Given the description of an element on the screen output the (x, y) to click on. 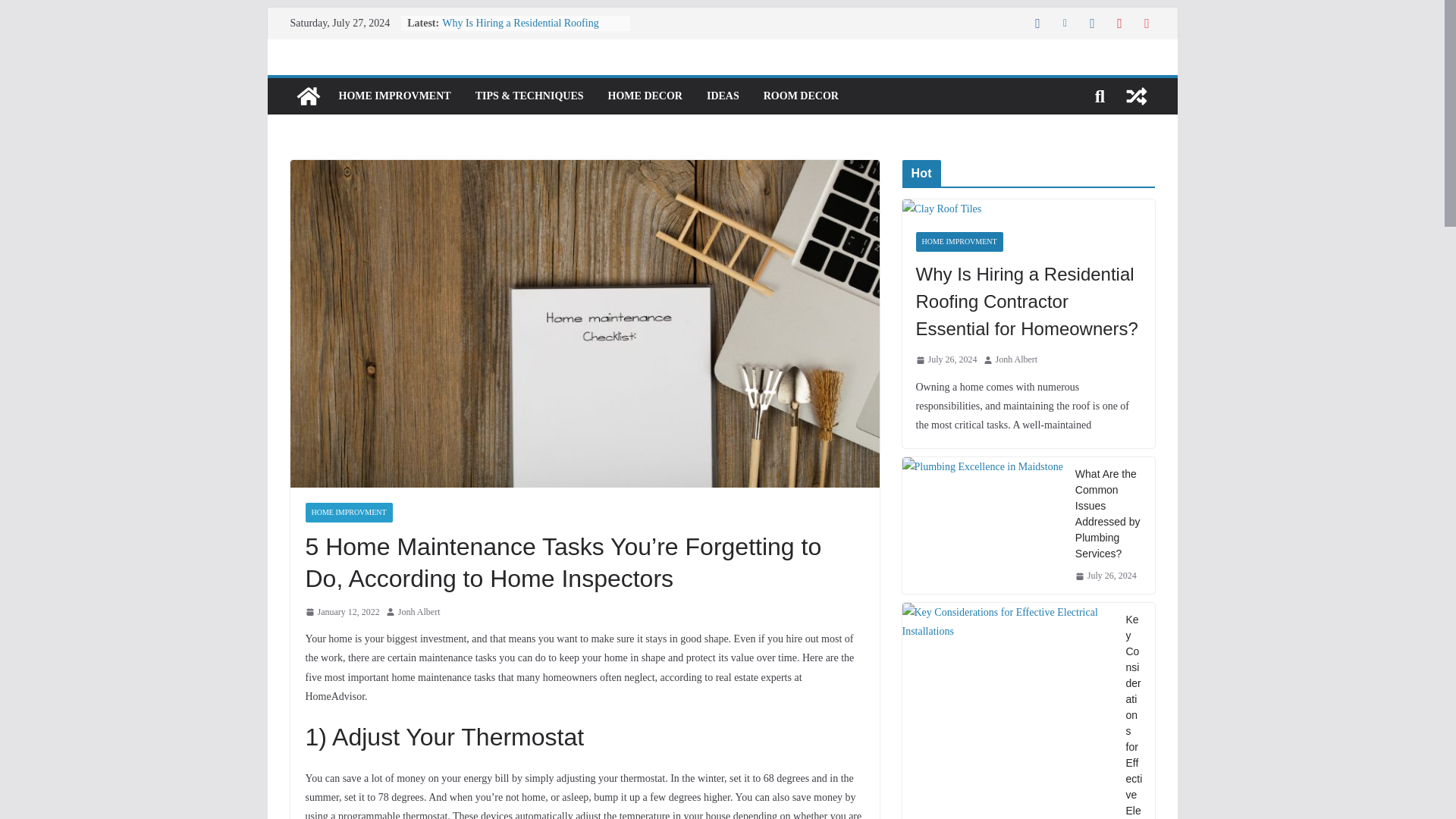
HOME IMPROVMENT (347, 512)
Jonh Albert (419, 612)
6:05 am (341, 612)
HOME DECOR (645, 96)
January 12, 2022 (341, 612)
IDEAS (722, 96)
Jonh Albert (419, 612)
Appartment Guru (307, 95)
HOME IMPROVMENT (393, 96)
ROOM DECOR (800, 96)
View a random post (1136, 95)
